Given the description of an element on the screen output the (x, y) to click on. 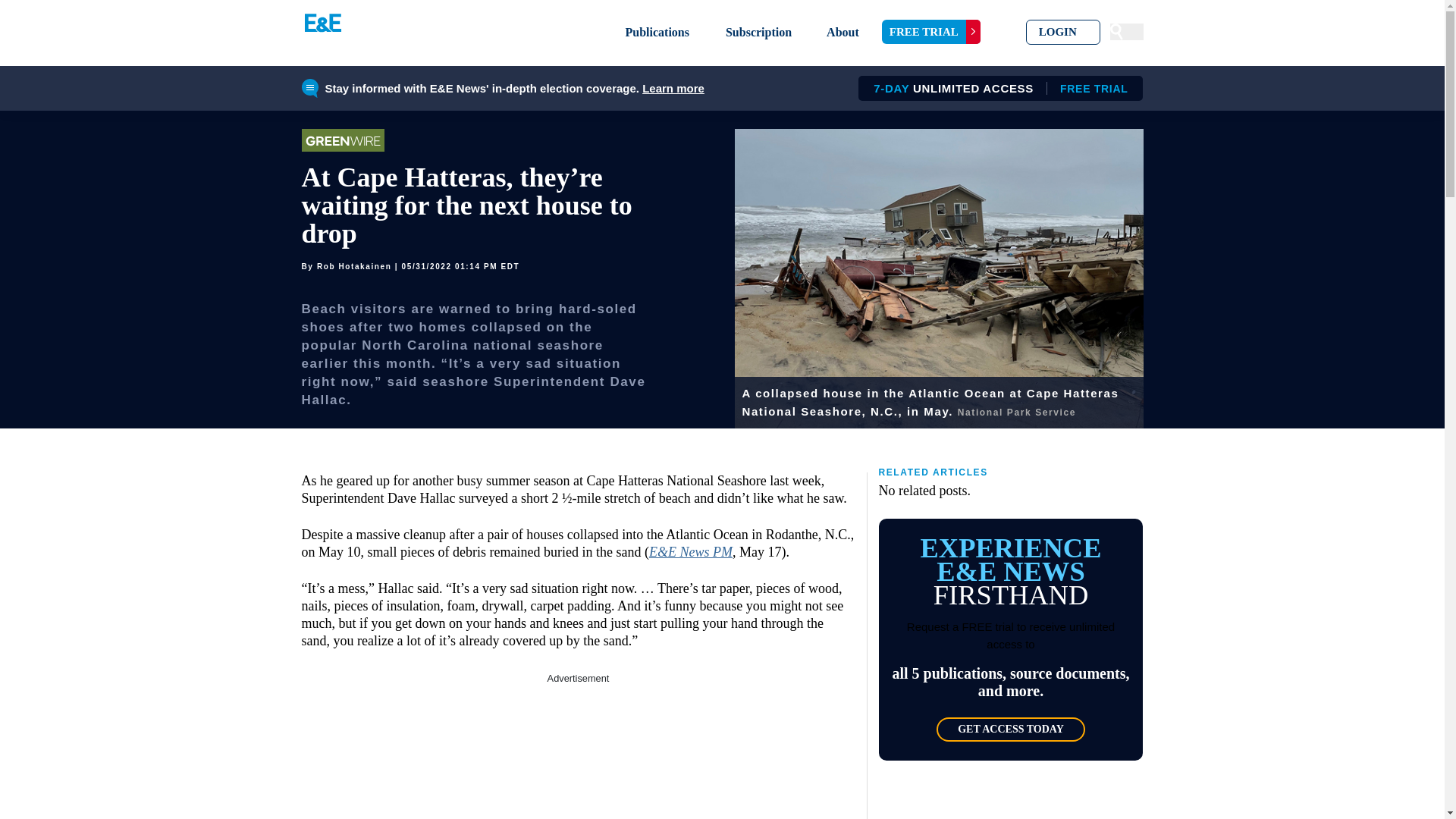
LOGIN (1063, 32)
About (843, 32)
Publications (994, 88)
Skip to primary navigation (656, 32)
3rd party ad content (673, 88)
FREE TRIAL (577, 752)
GET ACCESS TODAY (930, 31)
Subscription (1010, 729)
